Given the description of an element on the screen output the (x, y) to click on. 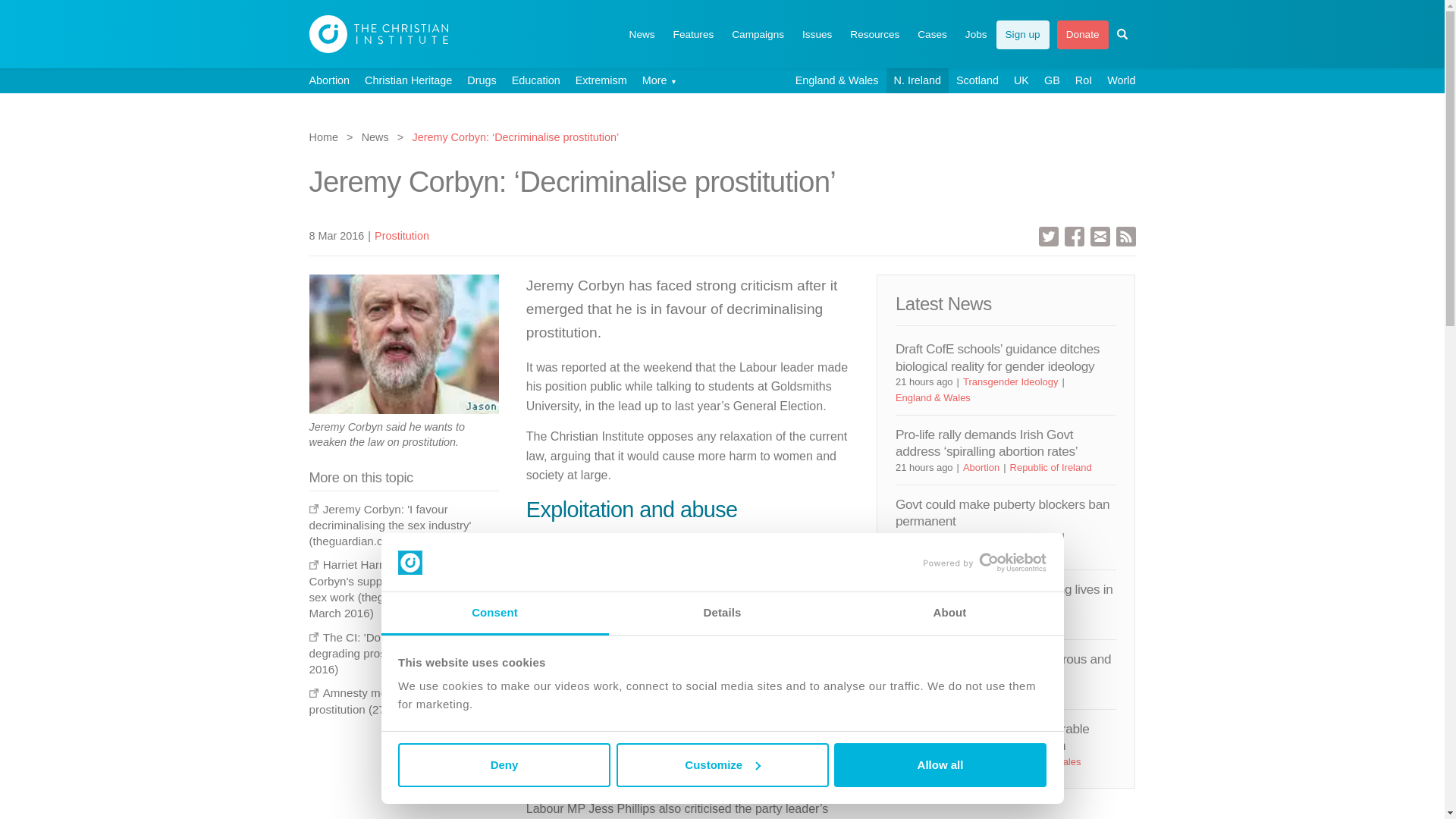
Share this on Twitter (1048, 235)
Details (721, 613)
About (948, 613)
Consent (494, 613)
Share this on Facebook (1074, 235)
Share this through Email (1099, 235)
